Given the description of an element on the screen output the (x, y) to click on. 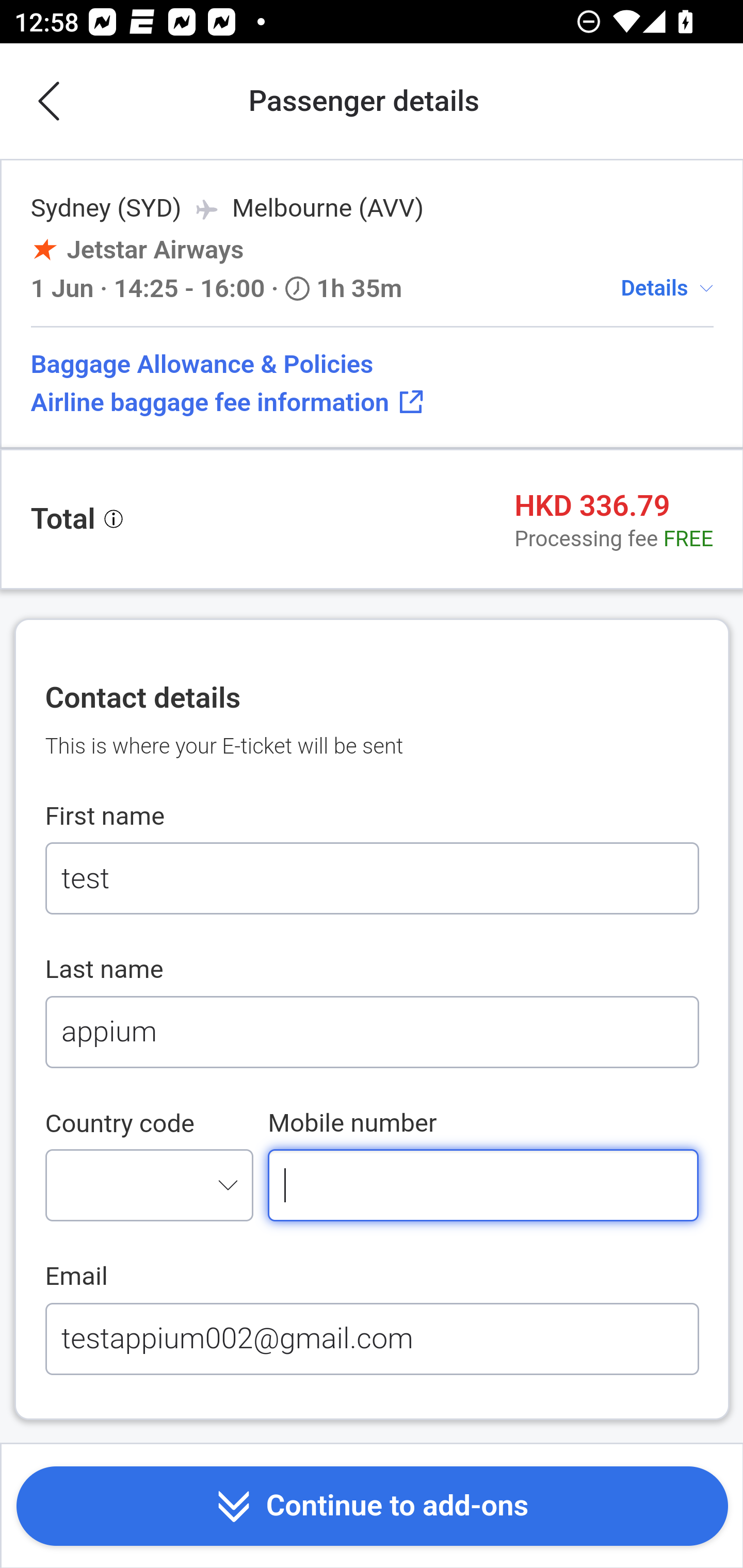
Back (51, 101)
Details (654, 287)
Baggage Allowance & Policies (371, 364)
Airline baggage fee information (371, 401)
Total HKD 336.79 Processing fee FREE (371, 518)
test (371, 878)
appium (371, 1031)
testappium002@gmail.com (371, 1338)
Continue to add-ons (371, 1506)
